Given the description of an element on the screen output the (x, y) to click on. 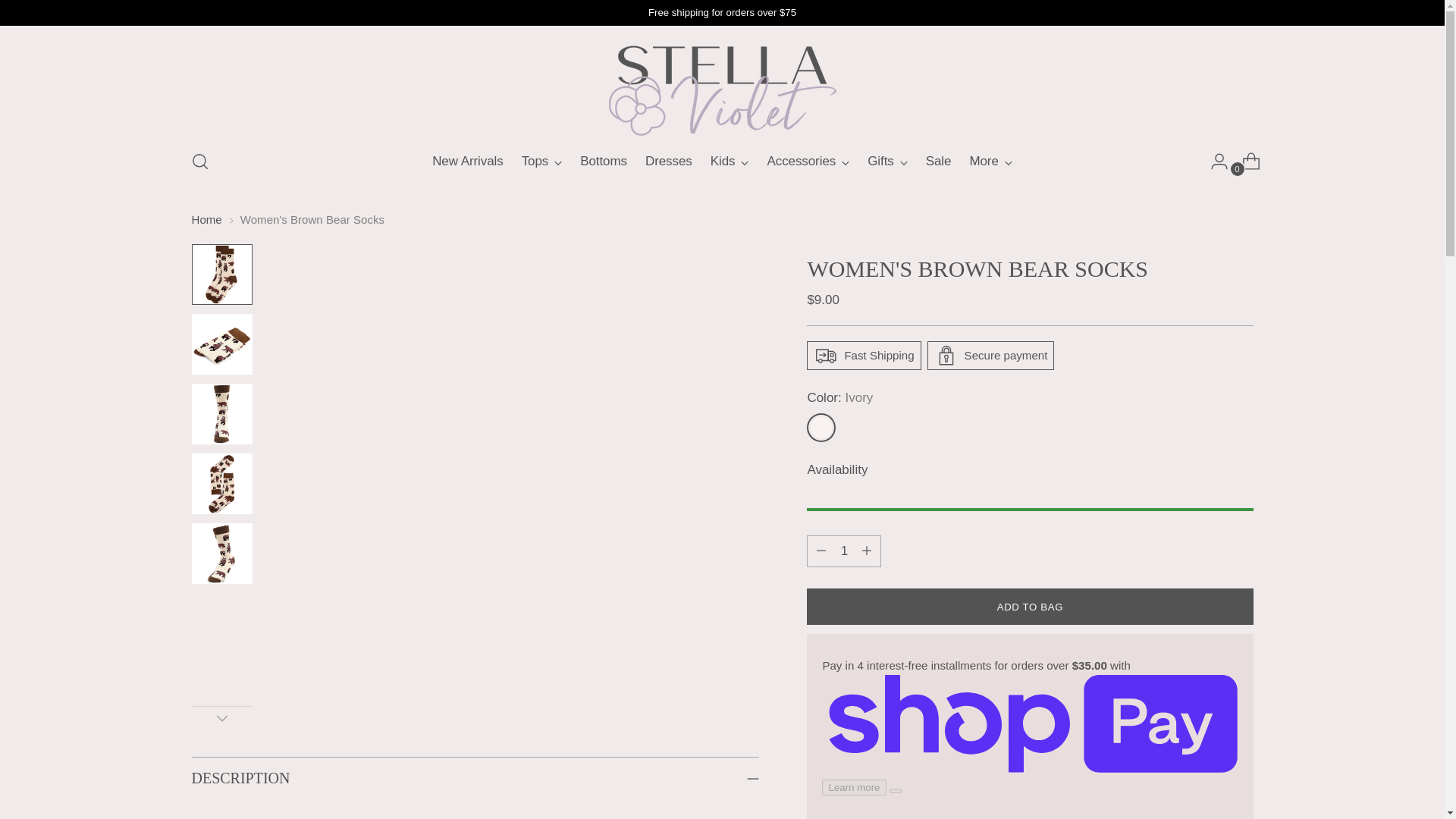
New Arrivals (467, 161)
Dresses (669, 161)
Kids (729, 161)
Down (220, 717)
More (990, 161)
Bottoms (603, 161)
Tops (541, 161)
Accessories (807, 161)
1 (843, 551)
Gifts (887, 161)
0 (1245, 161)
